Given the description of an element on the screen output the (x, y) to click on. 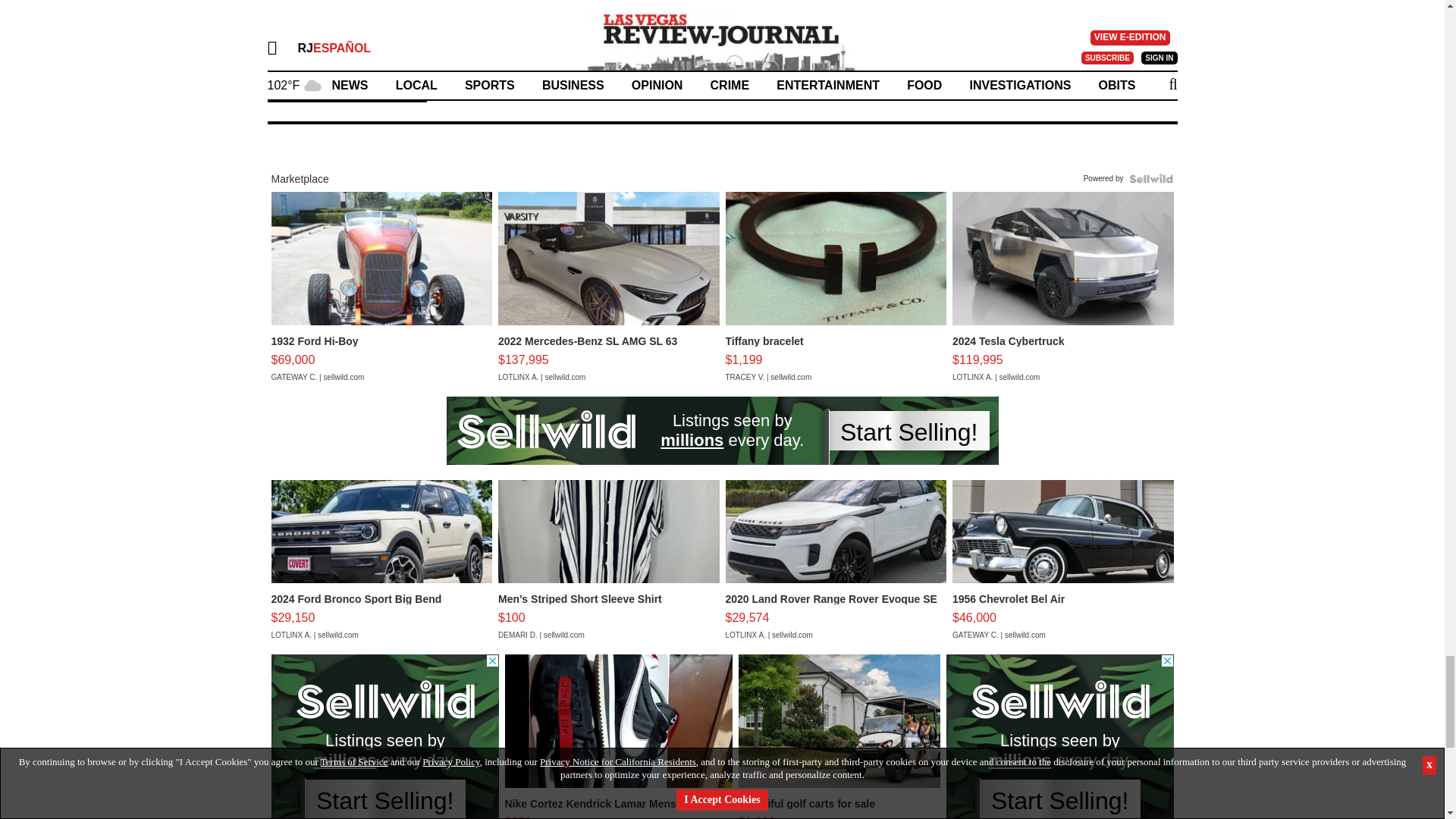
3rd party ad content (721, 430)
3rd party ad content (1059, 736)
3rd party ad content (384, 736)
